Given the description of an element on the screen output the (x, y) to click on. 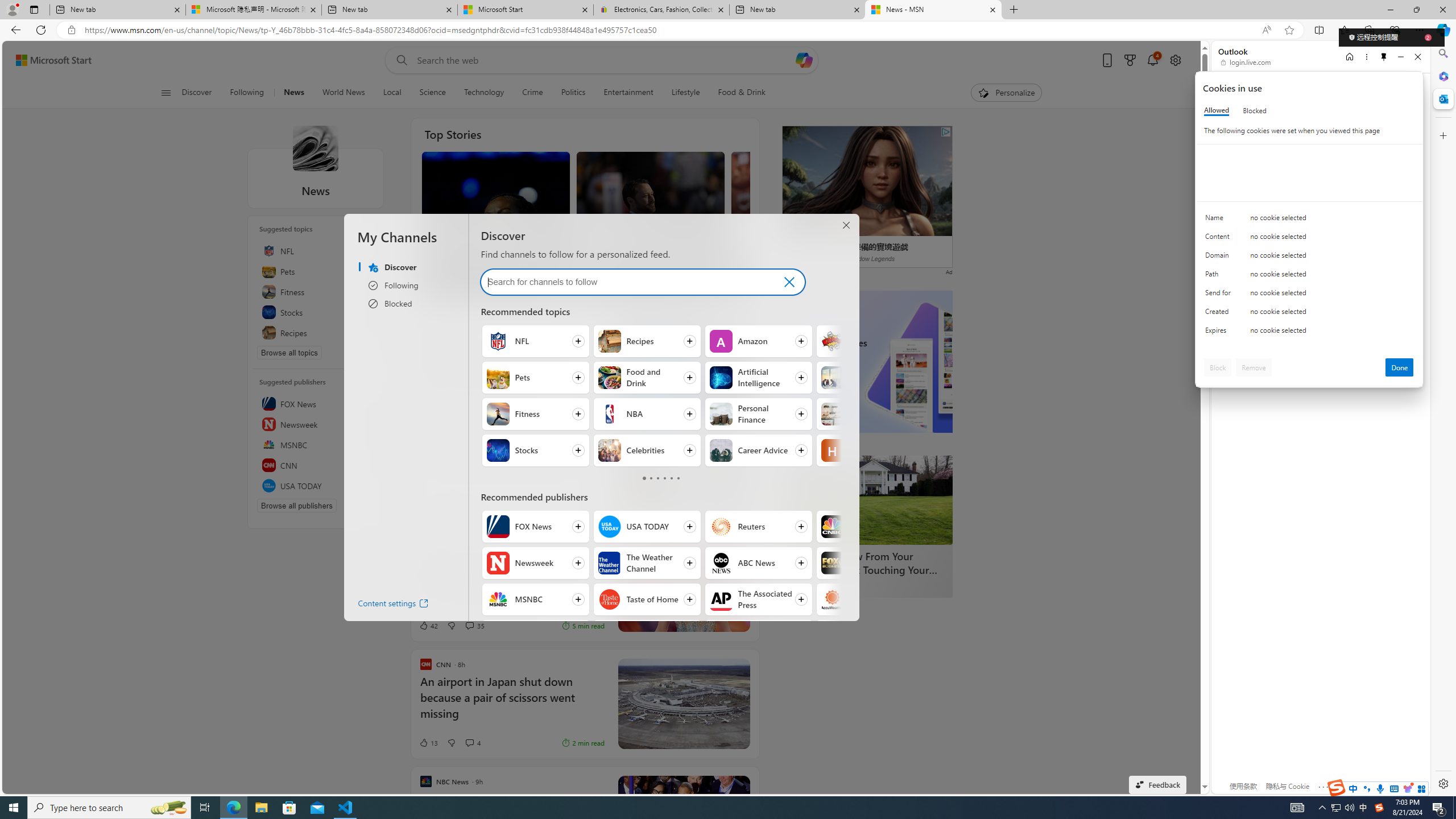
Open settings (1175, 60)
Notifications (1152, 60)
Politics (573, 92)
Entertainment (628, 92)
MSNBC (315, 444)
Discover (197, 92)
login.live.com (1246, 61)
57 Like (593, 284)
Settings (1442, 783)
Address and search bar (669, 29)
Fitness (315, 291)
